Given the description of an element on the screen output the (x, y) to click on. 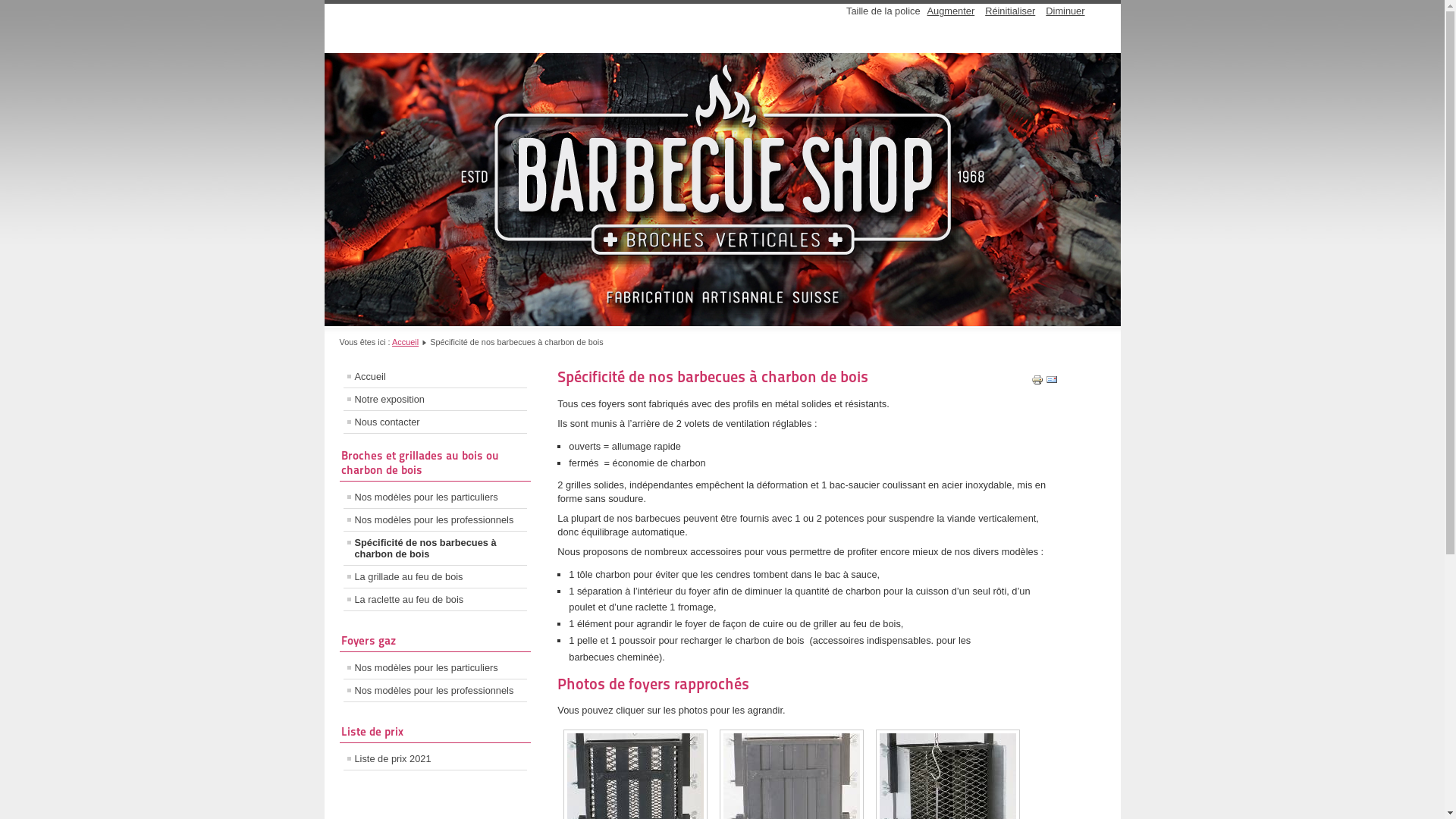
Nous contacter Element type: text (434, 422)
Augmenter Element type: text (951, 10)
Accueil Element type: text (434, 376)
Imprimer Element type: hover (1037, 382)
La raclette au feu de bois Element type: text (434, 599)
Diminuer Element type: text (1064, 10)
La grillade au feu de bois Element type: text (434, 576)
Liste de prix 2021 Element type: text (434, 758)
Accueil Element type: text (405, 341)
Notre exposition Element type: text (434, 399)
E-mail Element type: hover (1051, 382)
